Given the description of an element on the screen output the (x, y) to click on. 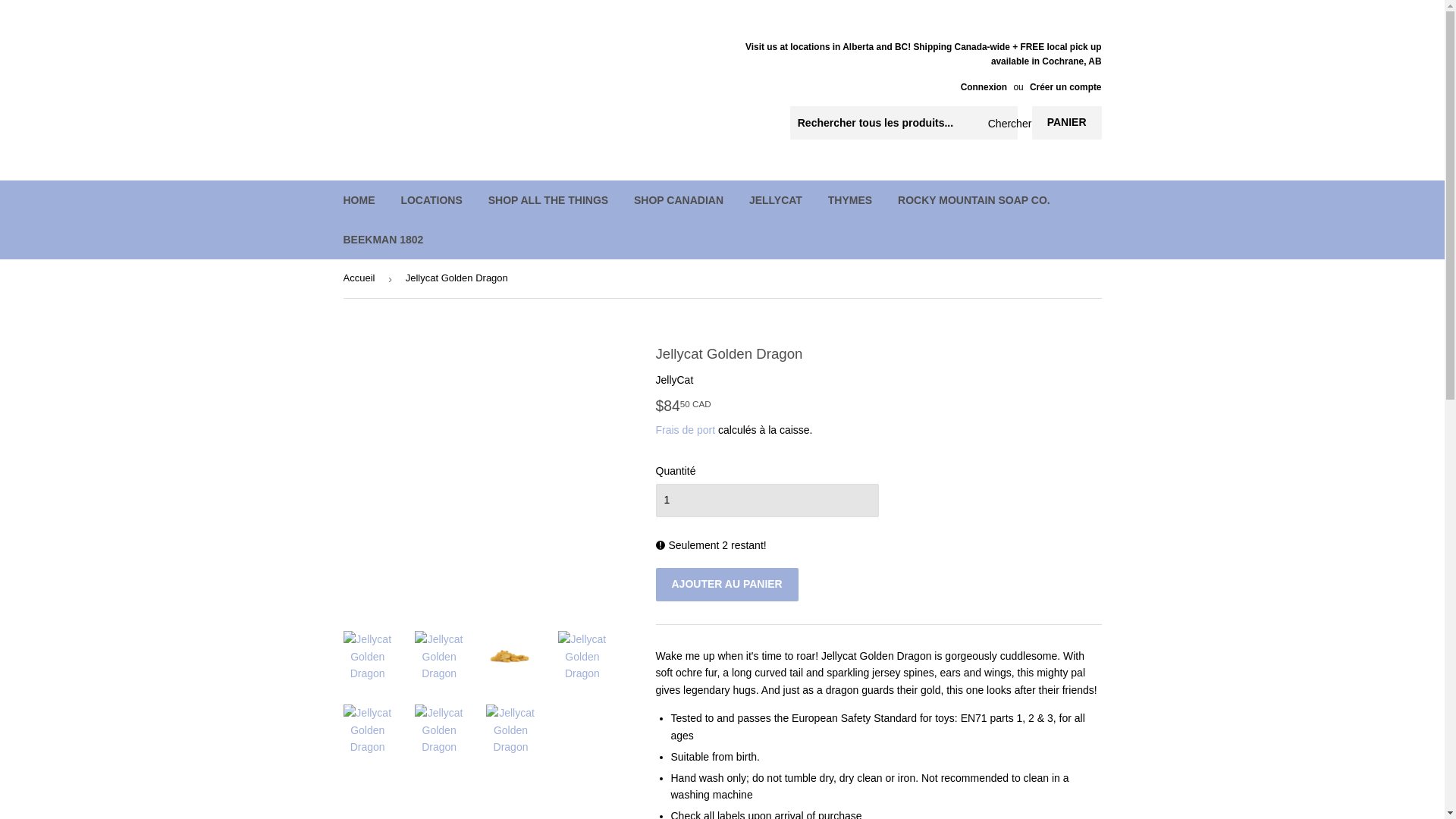
1 (766, 500)
Chercher (1000, 123)
Connexion (983, 86)
PANIER (1067, 122)
